Given the description of an element on the screen output the (x, y) to click on. 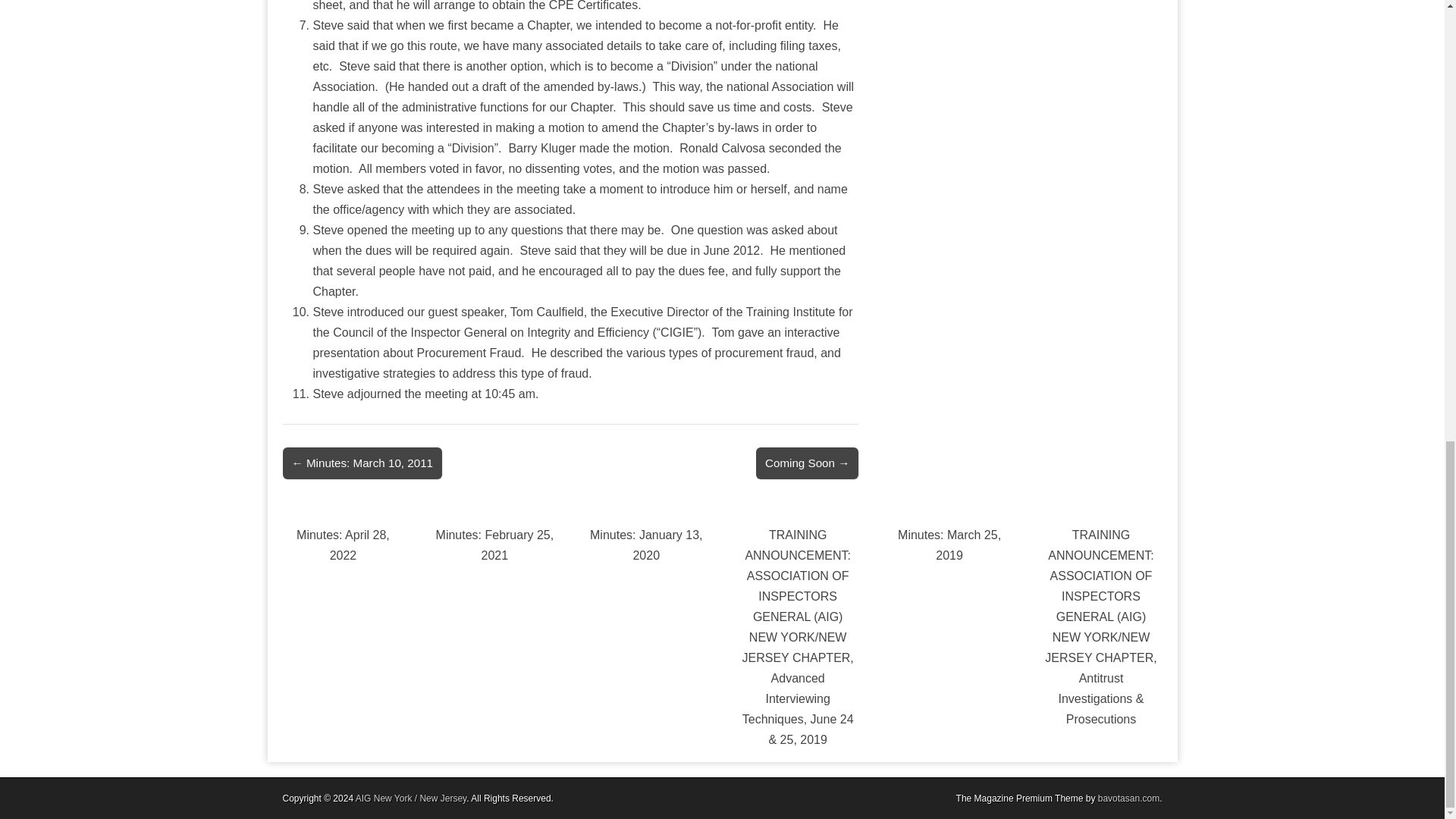
bavotasan.com (1127, 798)
Minutes: January 13, 2020 (646, 544)
Minutes: February 25, 2021 (494, 544)
Minutes: March 25, 2019 (949, 544)
Minutes: April 28, 2022 (343, 544)
